Given the description of an element on the screen output the (x, y) to click on. 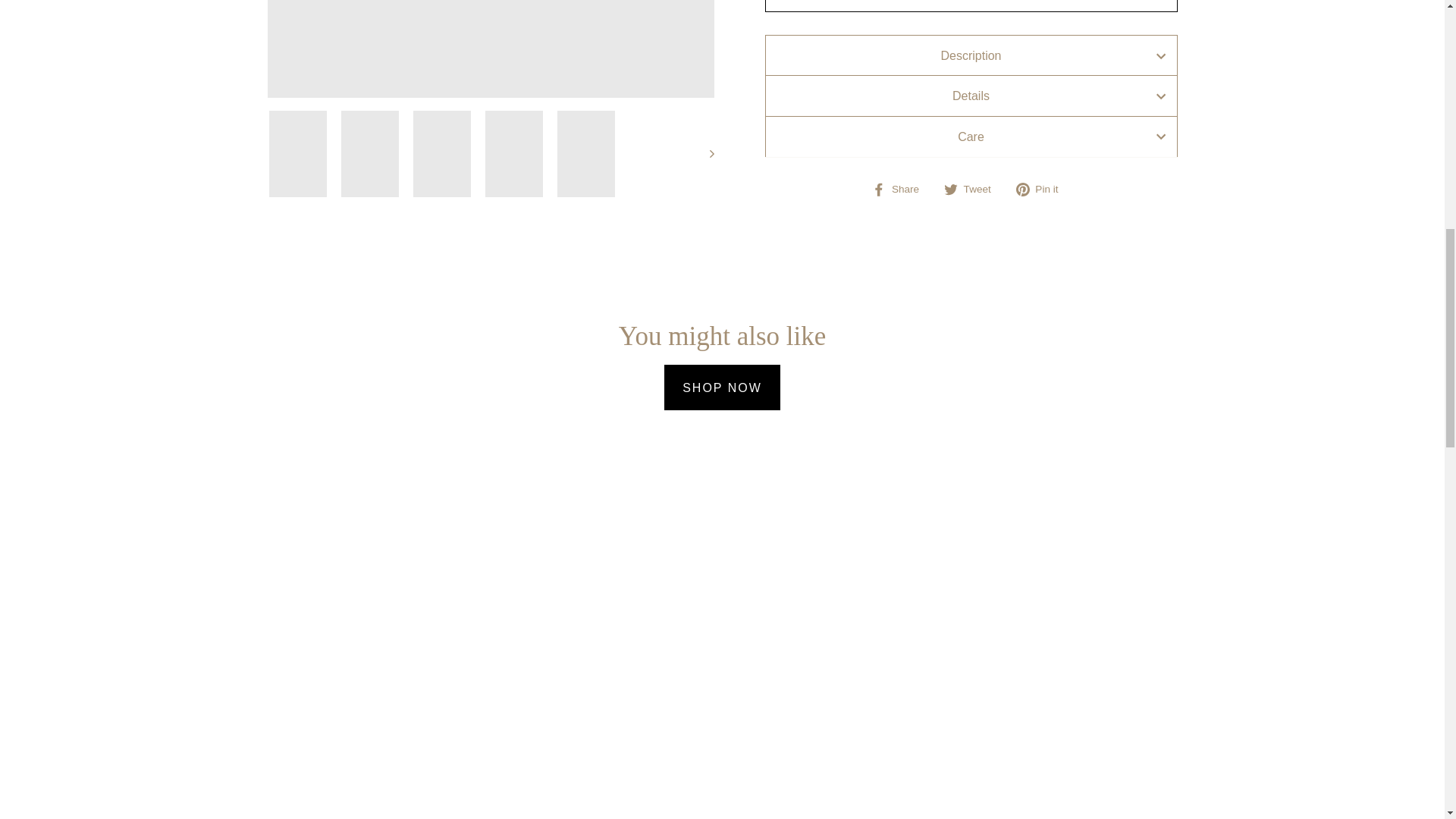
Tweet on Twitter (973, 189)
Pin on Pinterest (1043, 189)
Share on Facebook (901, 189)
